Given the description of an element on the screen output the (x, y) to click on. 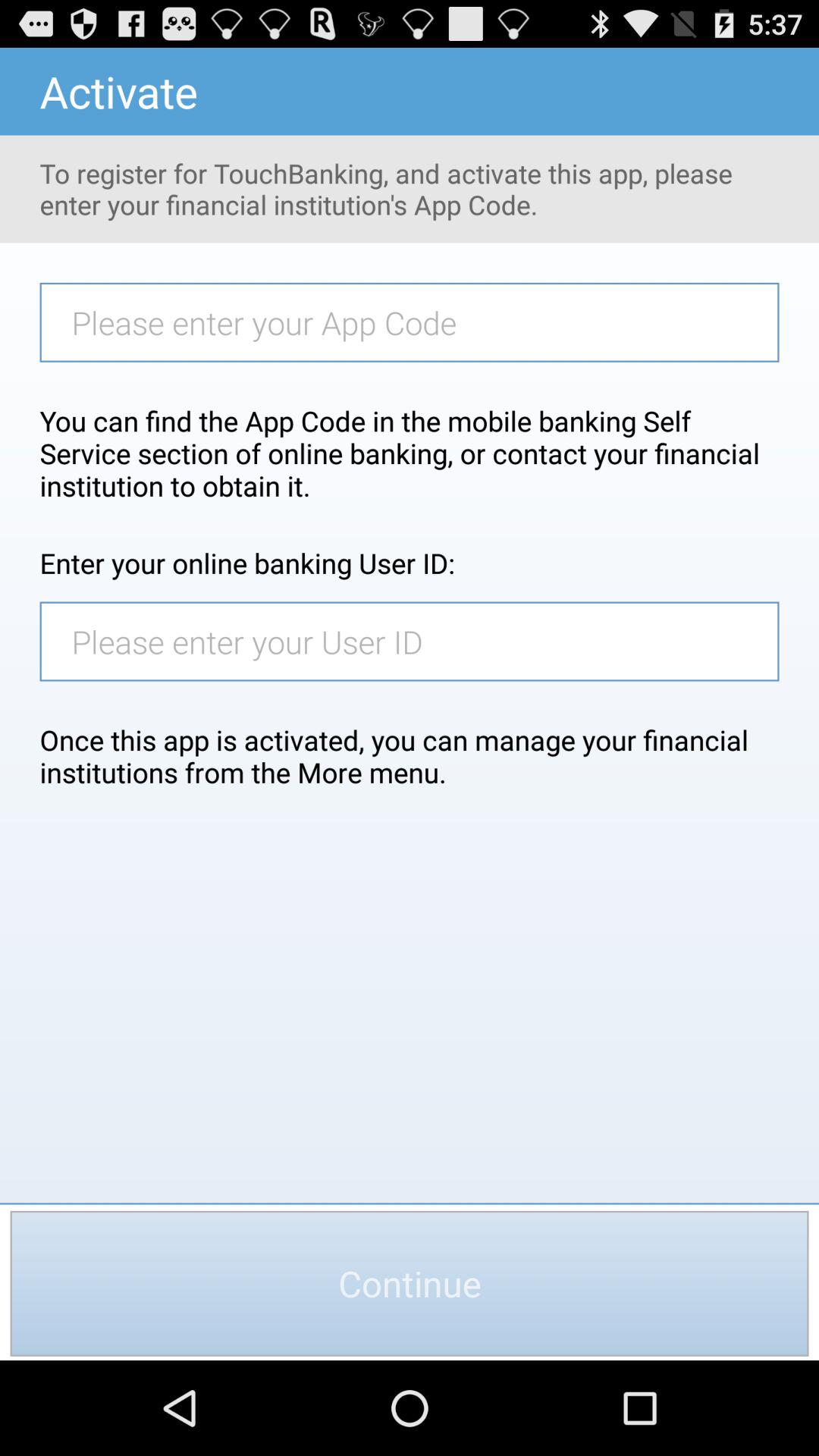
turn off the continue (409, 1283)
